Given the description of an element on the screen output the (x, y) to click on. 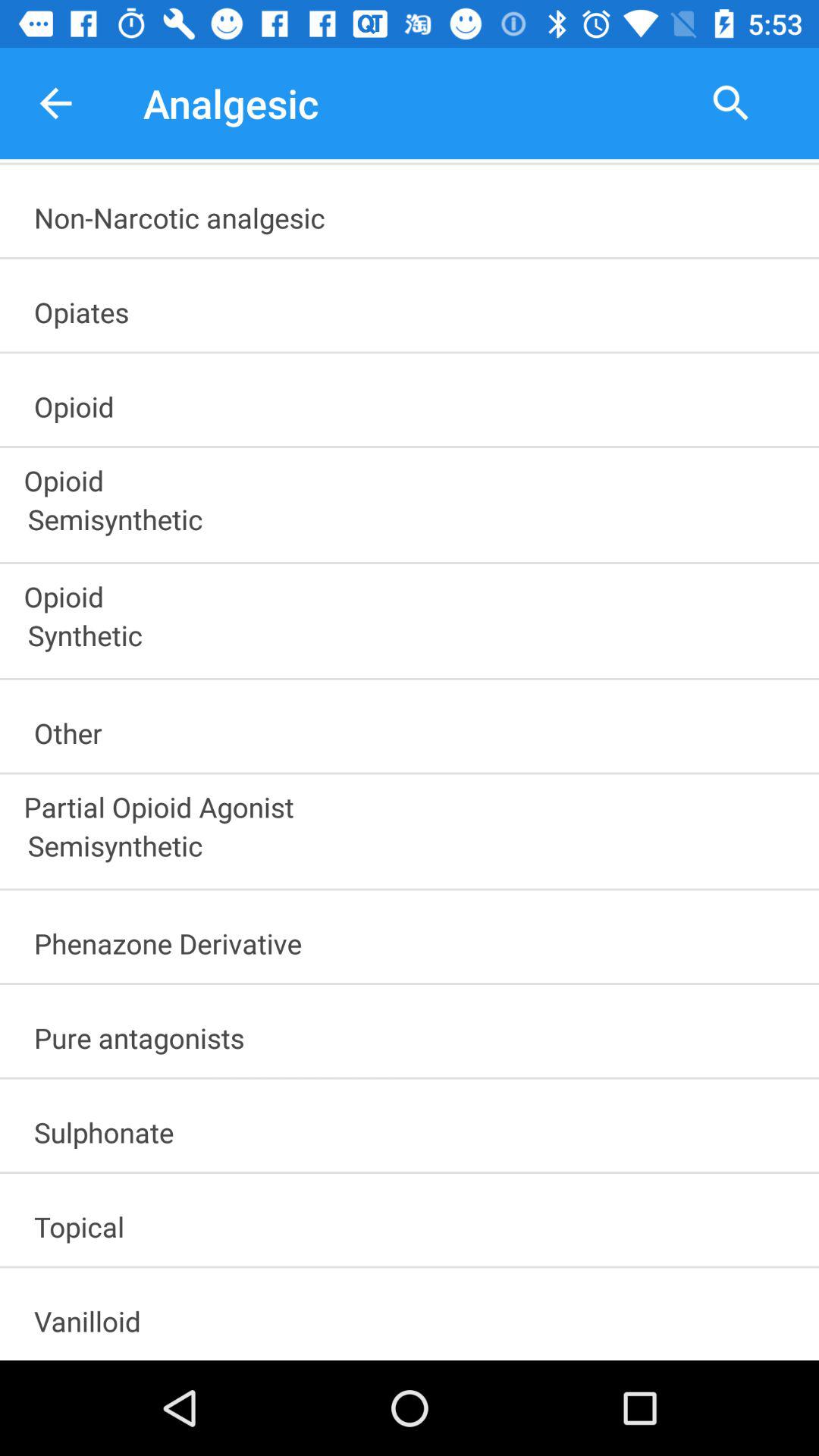
flip to the non-narcotic analgesic (416, 212)
